Given the description of an element on the screen output the (x, y) to click on. 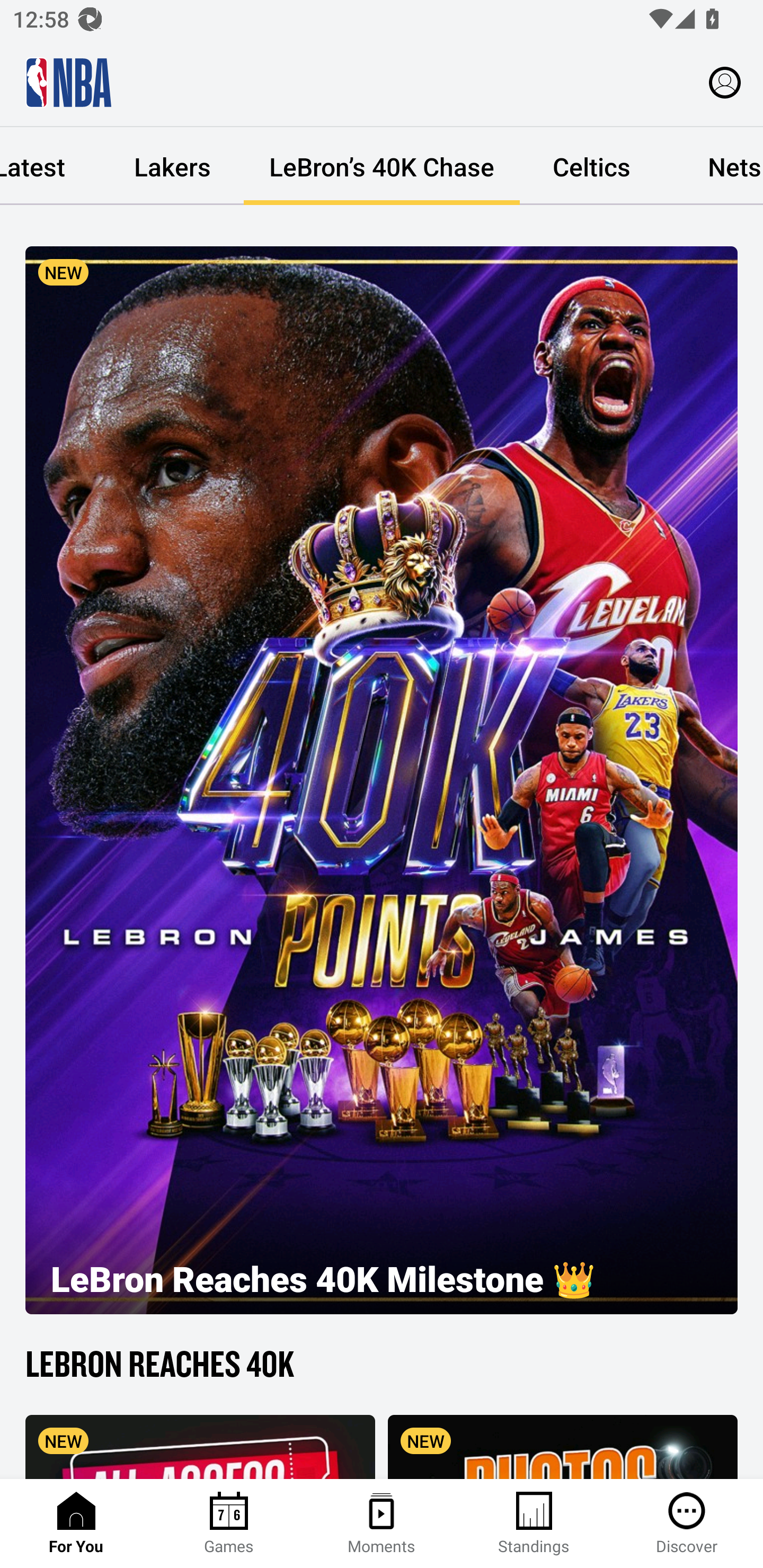
Profile (724, 81)
Lakers (171, 166)
Celtics (591, 166)
NEW LeBron Reaches 40K Milestone 👑 (381, 779)
LEBRON REACHES 40K NEW NEW (381, 1408)
Games (228, 1523)
Moments (381, 1523)
Standings (533, 1523)
Discover (686, 1523)
